Given the description of an element on the screen output the (x, y) to click on. 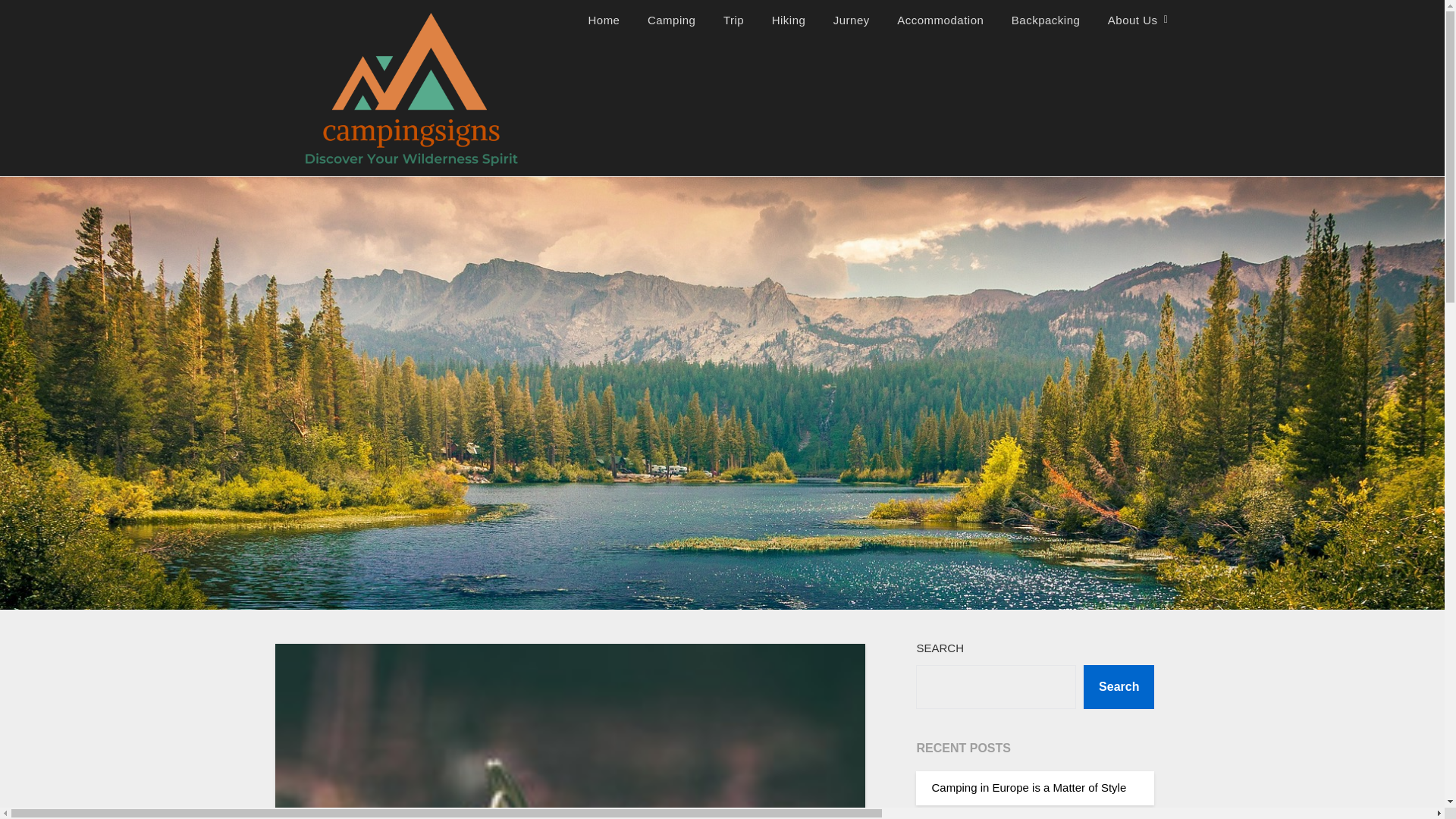
Accommodation (940, 20)
Jurney (851, 20)
camping signs (598, 19)
Trip (733, 20)
Camping (670, 20)
Backpacking (1045, 20)
Home (603, 20)
Search (1118, 687)
Camping in Europe is a Matter of Style (1028, 787)
Hiking (789, 20)
